Given the description of an element on the screen output the (x, y) to click on. 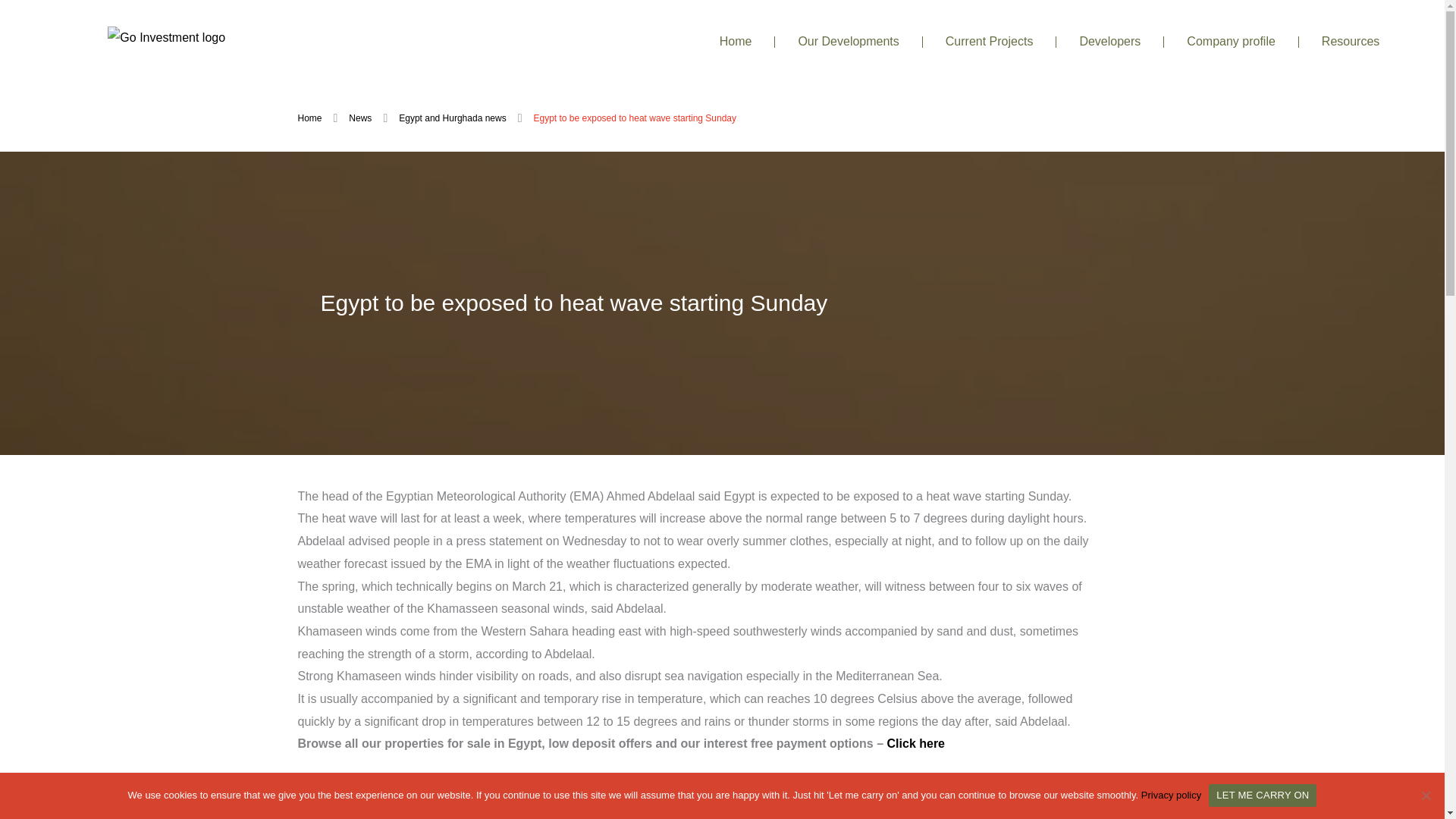
Company profile (1230, 41)
Current Projects (990, 41)
Our Developments (847, 41)
Developers (1110, 41)
Resources (1350, 41)
No (1425, 795)
Home (735, 41)
